Given the description of an element on the screen output the (x, y) to click on. 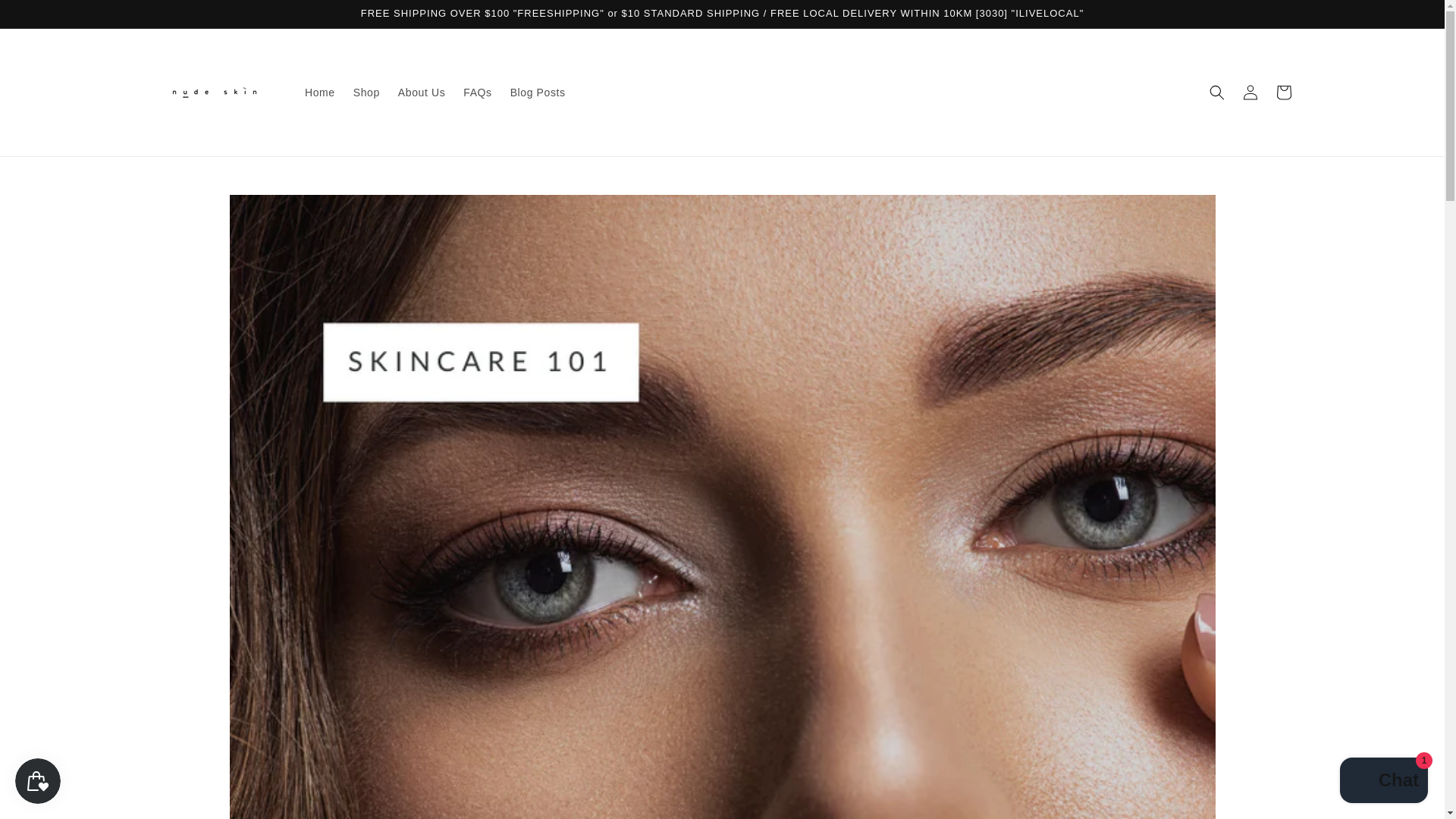
Smile.io Rewards Program Launcher (37, 780)
Shop (365, 92)
Skip to content (45, 16)
About Us (421, 92)
Cart (1283, 92)
Blog Posts (537, 92)
Shopify online store chat (1383, 781)
Home (319, 92)
FAQs (477, 92)
Log in (1249, 92)
